Given the description of an element on the screen output the (x, y) to click on. 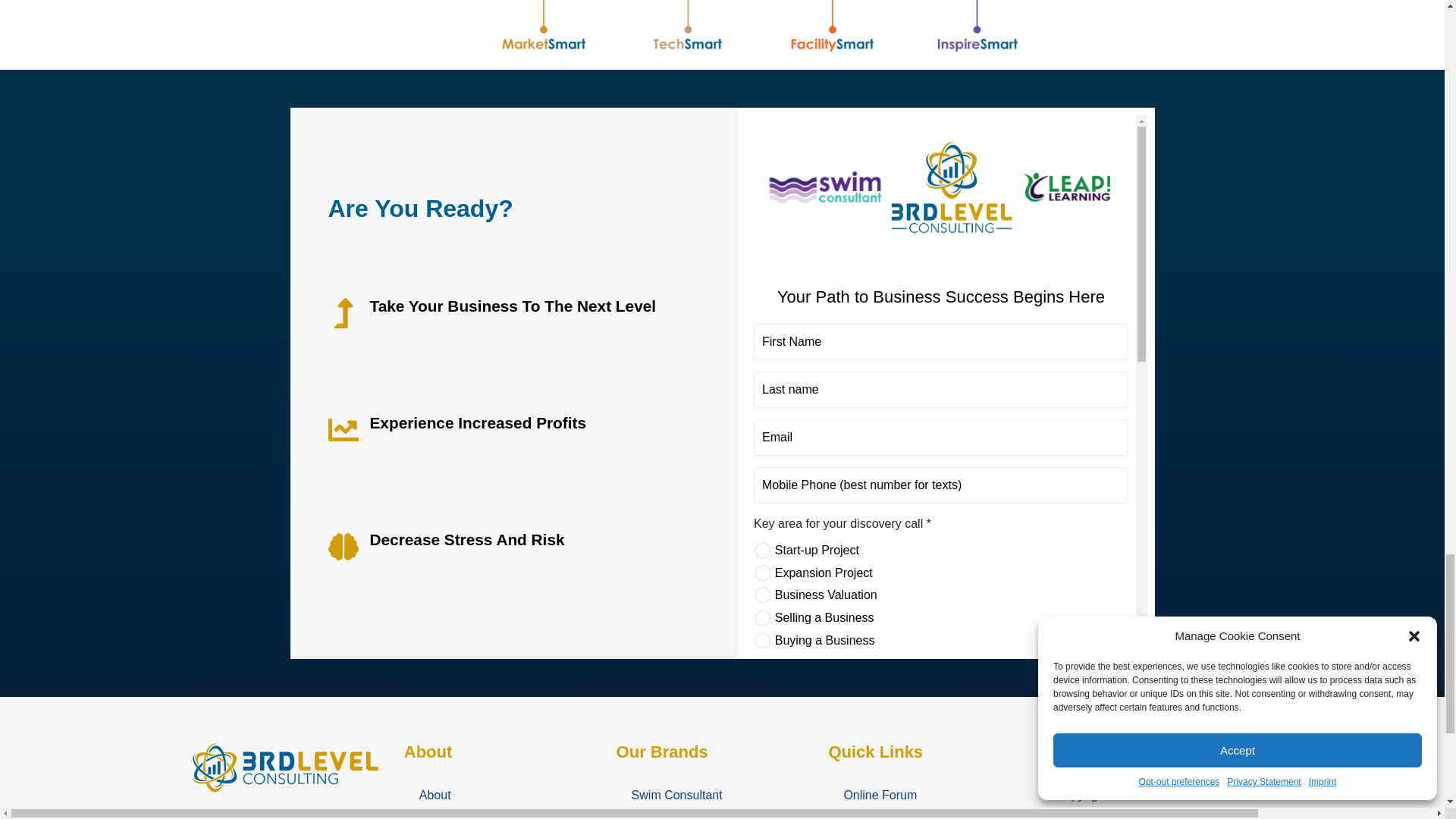
3rd Level Consulting - 3rd Level Consulting (285, 767)
